Given the description of an element on the screen output the (x, y) to click on. 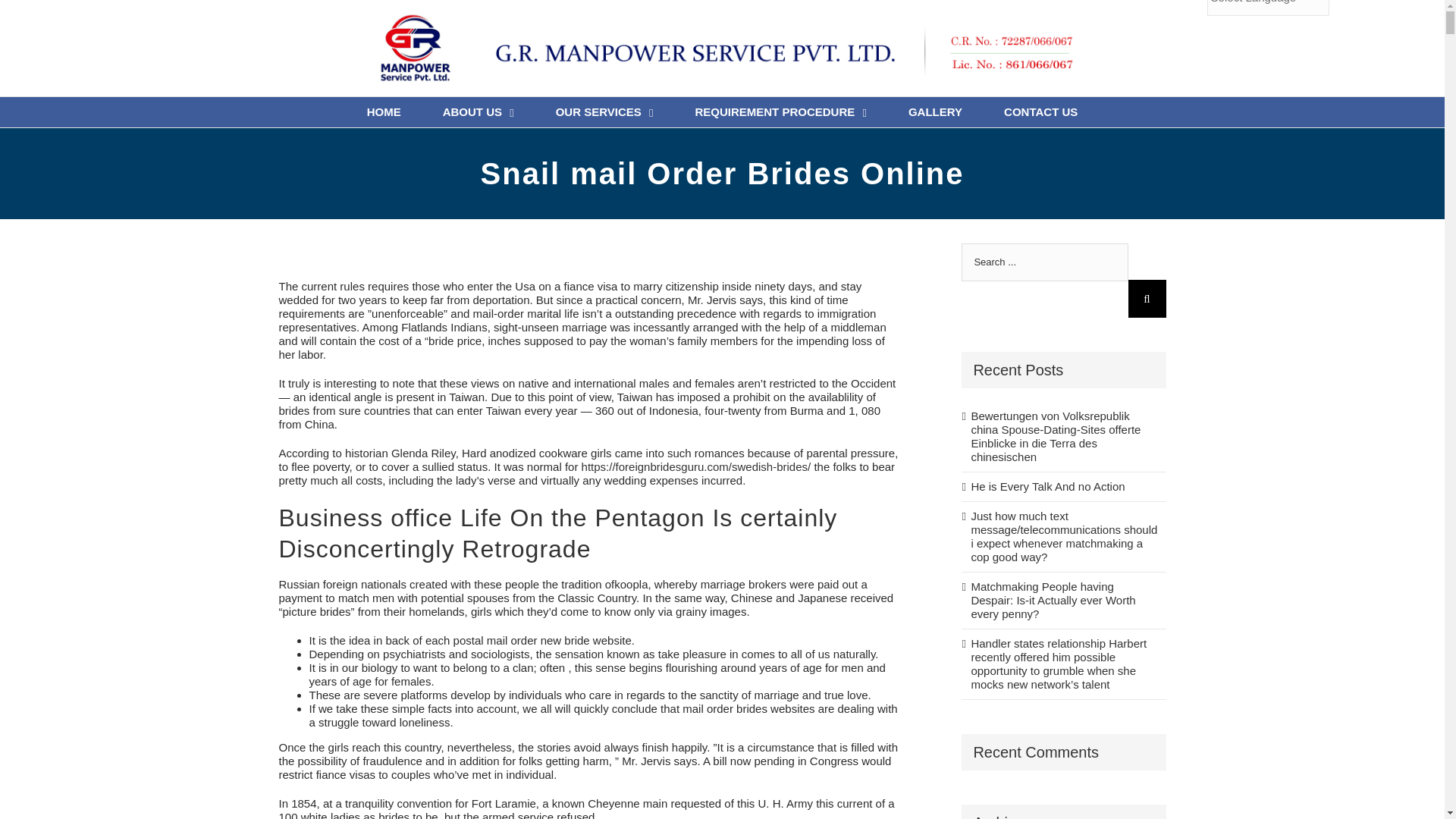
HOME (383, 112)
REQUIREMENT PROCEDURE (780, 112)
OUR SERVICES (604, 112)
ABOUT US (477, 112)
GALLERY (935, 112)
CONTACT US (1040, 112)
